Given the description of an element on the screen output the (x, y) to click on. 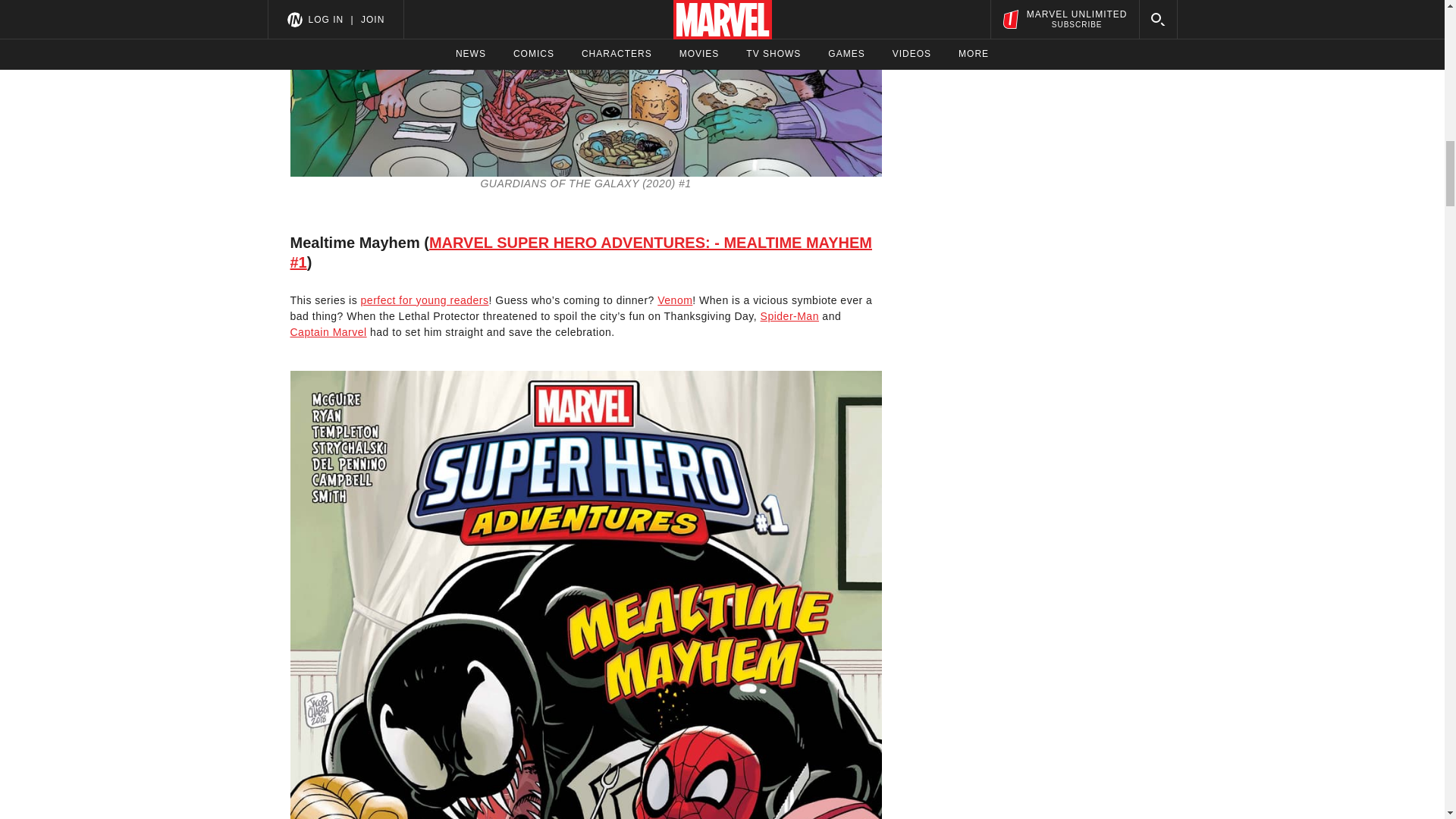
Captain Marvel (327, 331)
Spider-Man (789, 316)
Venom (675, 300)
perfect for young readers (425, 300)
